Given the description of an element on the screen output the (x, y) to click on. 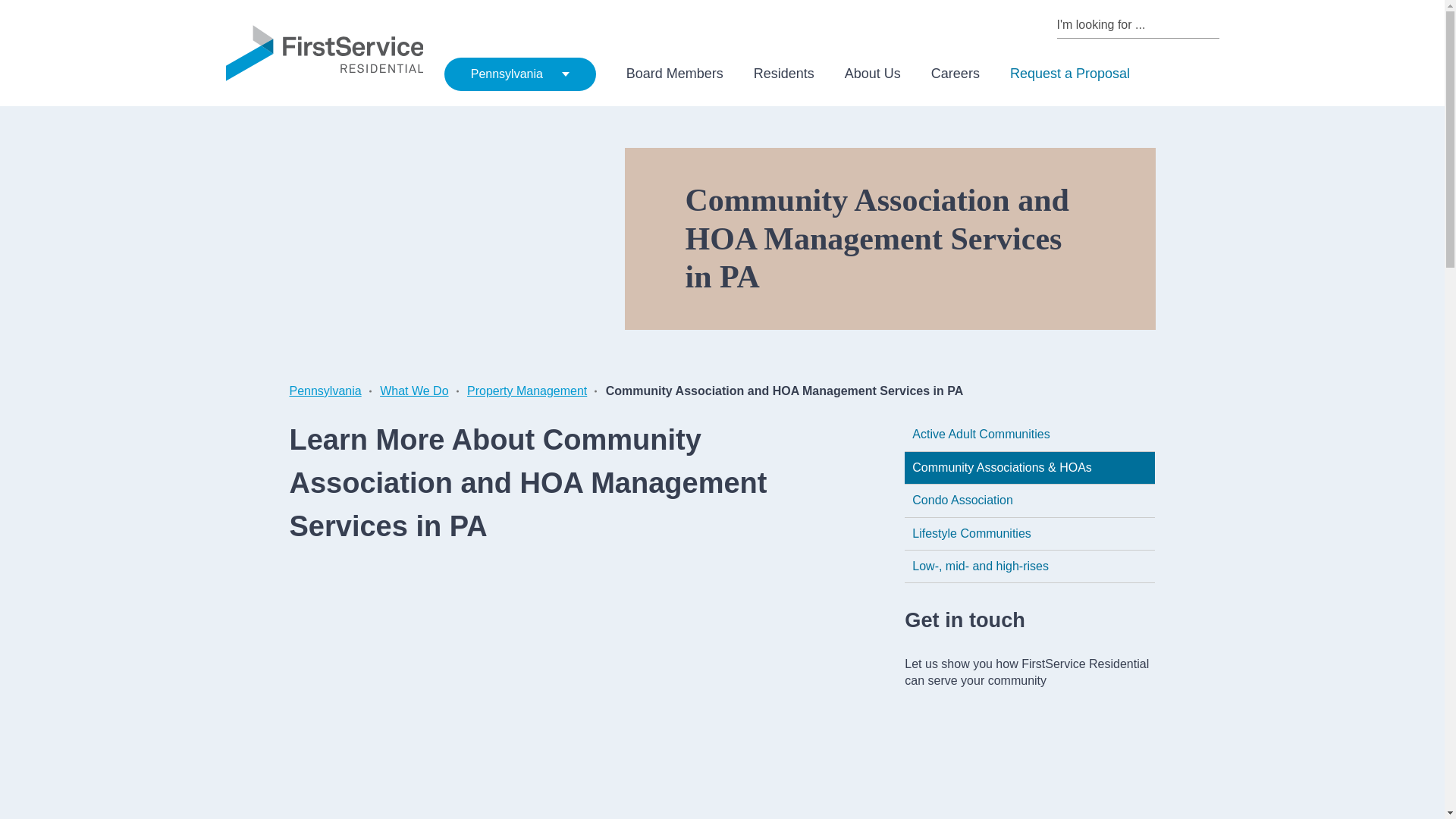
Submit search (1212, 24)
YouTube video player (505, 696)
Pennsylvania (519, 73)
Board Members (674, 73)
